Given the description of an element on the screen output the (x, y) to click on. 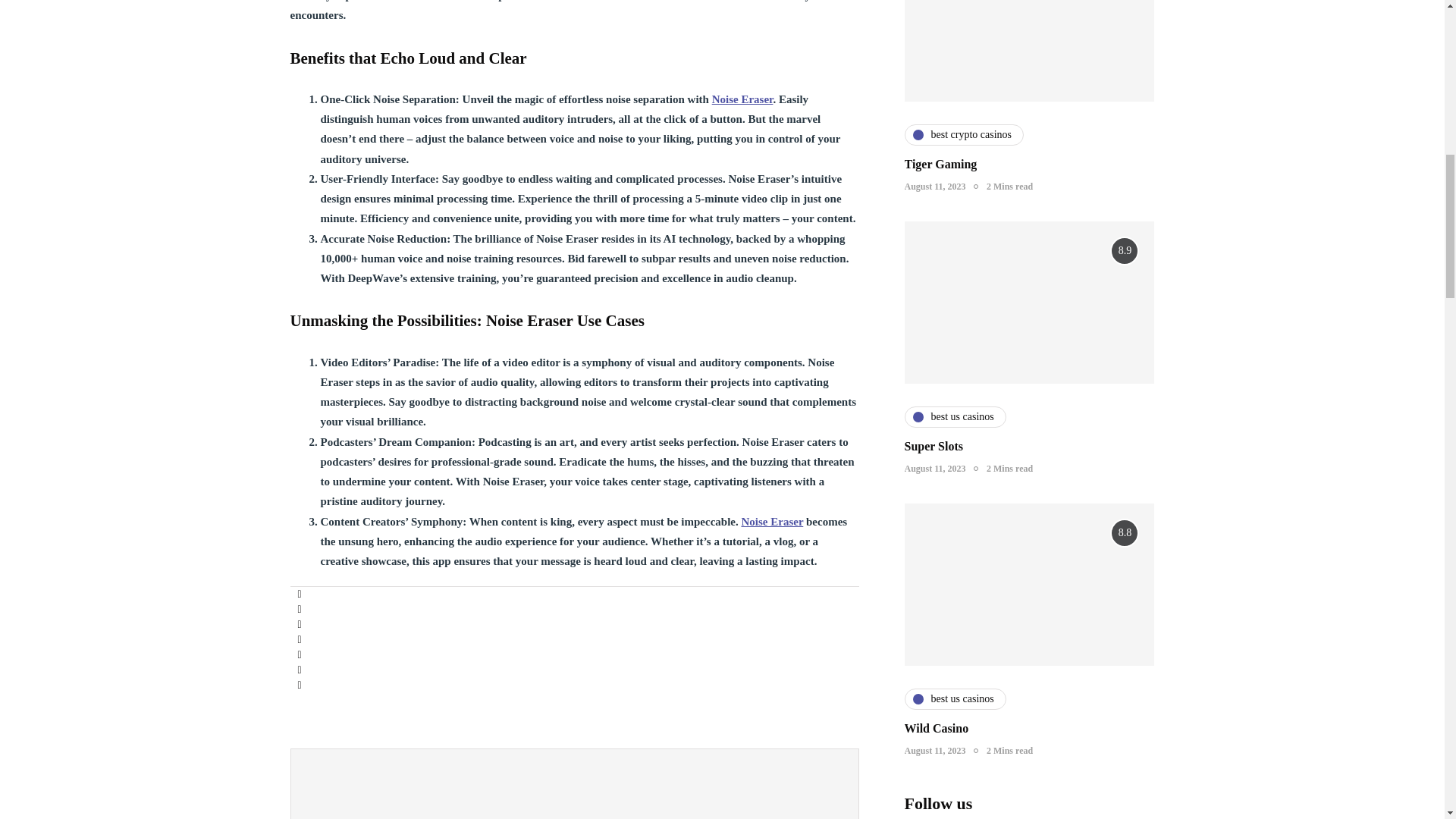
Share to WhatsApp (298, 639)
Share with Facebook (298, 594)
Share with LinkedIn (298, 624)
Share to Telegram (298, 654)
Tweet this (298, 609)
